Given the description of an element on the screen output the (x, y) to click on. 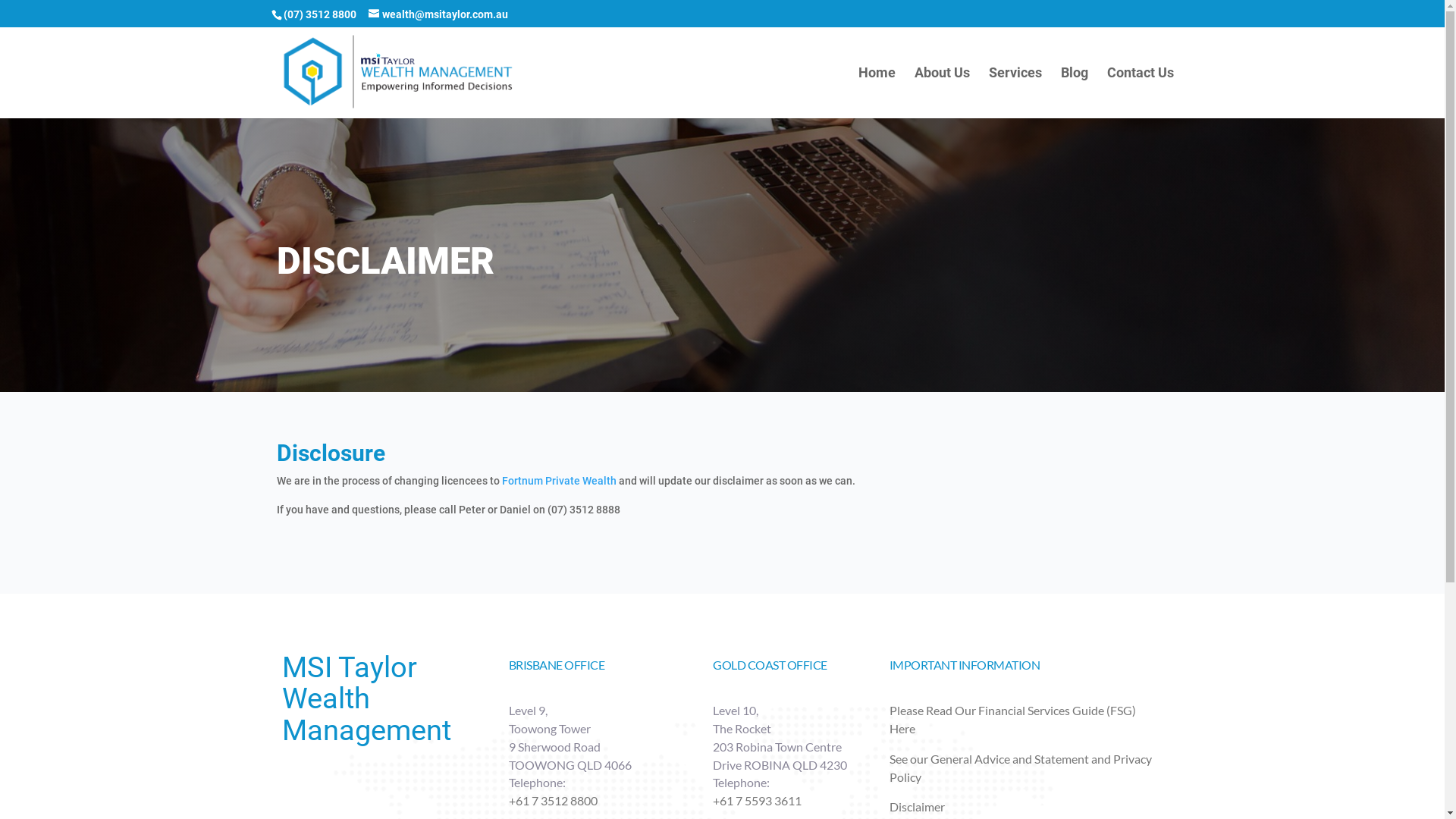
Blog Element type: text (1073, 92)
Disclaimer Element type: text (916, 806)
Fortnum Private Wealth Element type: text (559, 480)
Services Element type: text (1014, 92)
wealth@msitaylor.com.au Element type: text (438, 13)
Home Element type: text (876, 92)
Please Read Our Financial Services Guide (FSG) Here Element type: text (1012, 718)
Contact Us Element type: text (1140, 92)
See our General Advice and Statement and Privacy Policy Element type: text (1020, 767)
About Us Element type: text (941, 92)
